Given the description of an element on the screen output the (x, y) to click on. 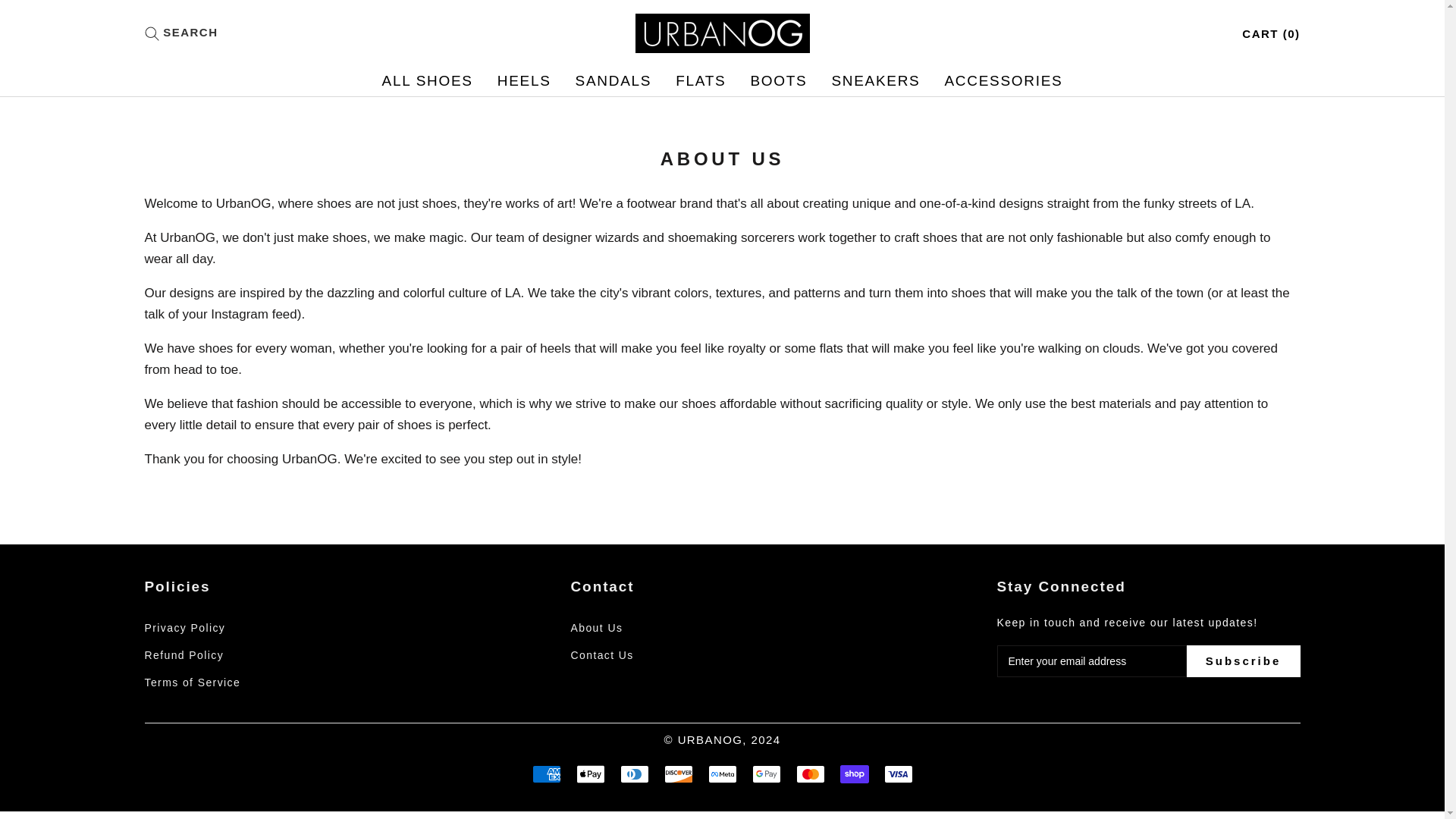
Subscribe (1243, 661)
Meta Pay (613, 80)
Diners Club (721, 773)
Refund Policy (634, 773)
Discover (235, 655)
SEARCH (875, 80)
